Given the description of an element on the screen output the (x, y) to click on. 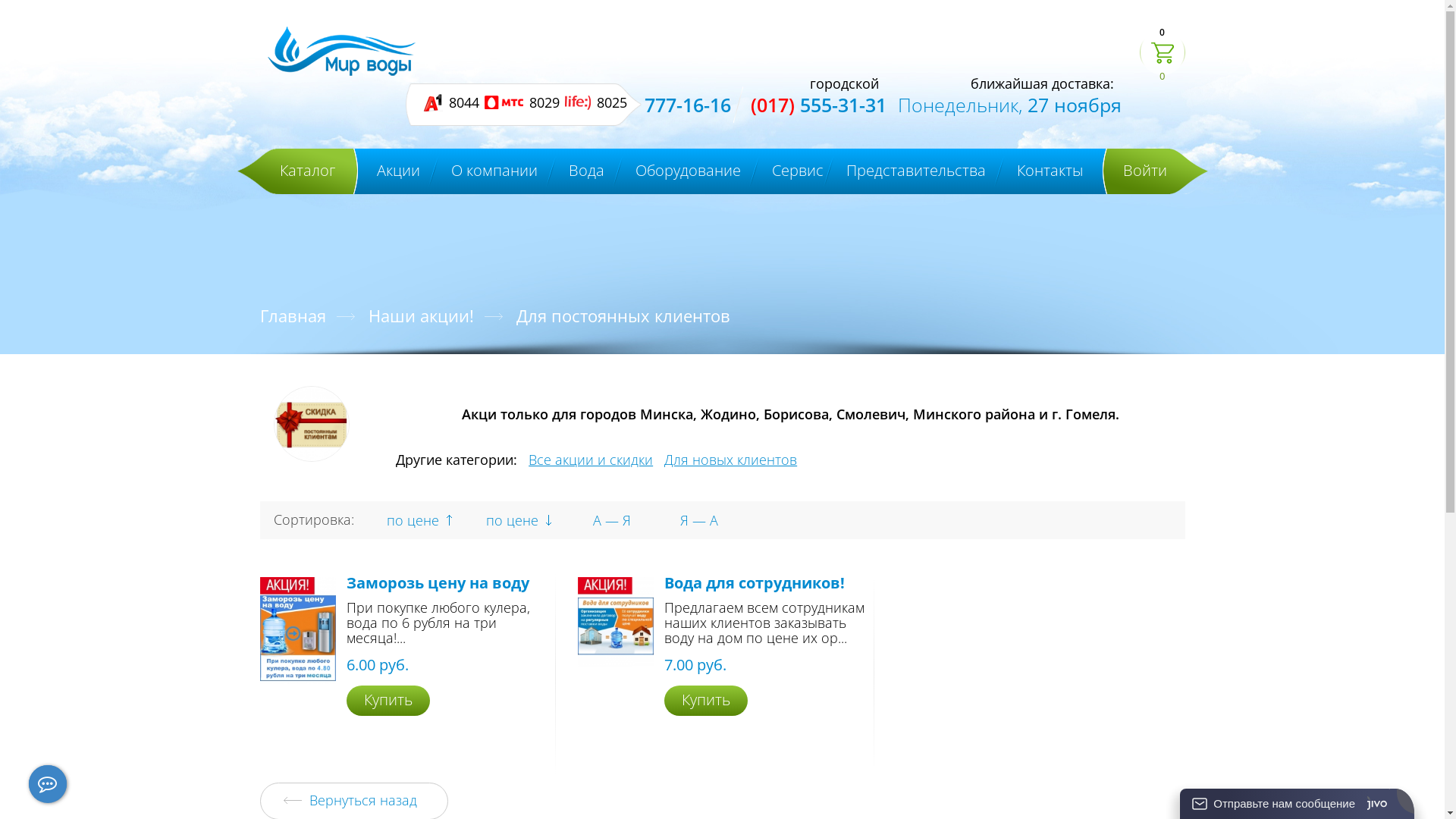
555-31-31 Element type: text (843, 104)
777-16-16 Element type: text (687, 104)
0
0 Element type: text (1161, 54)
